Given the description of an element on the screen output the (x, y) to click on. 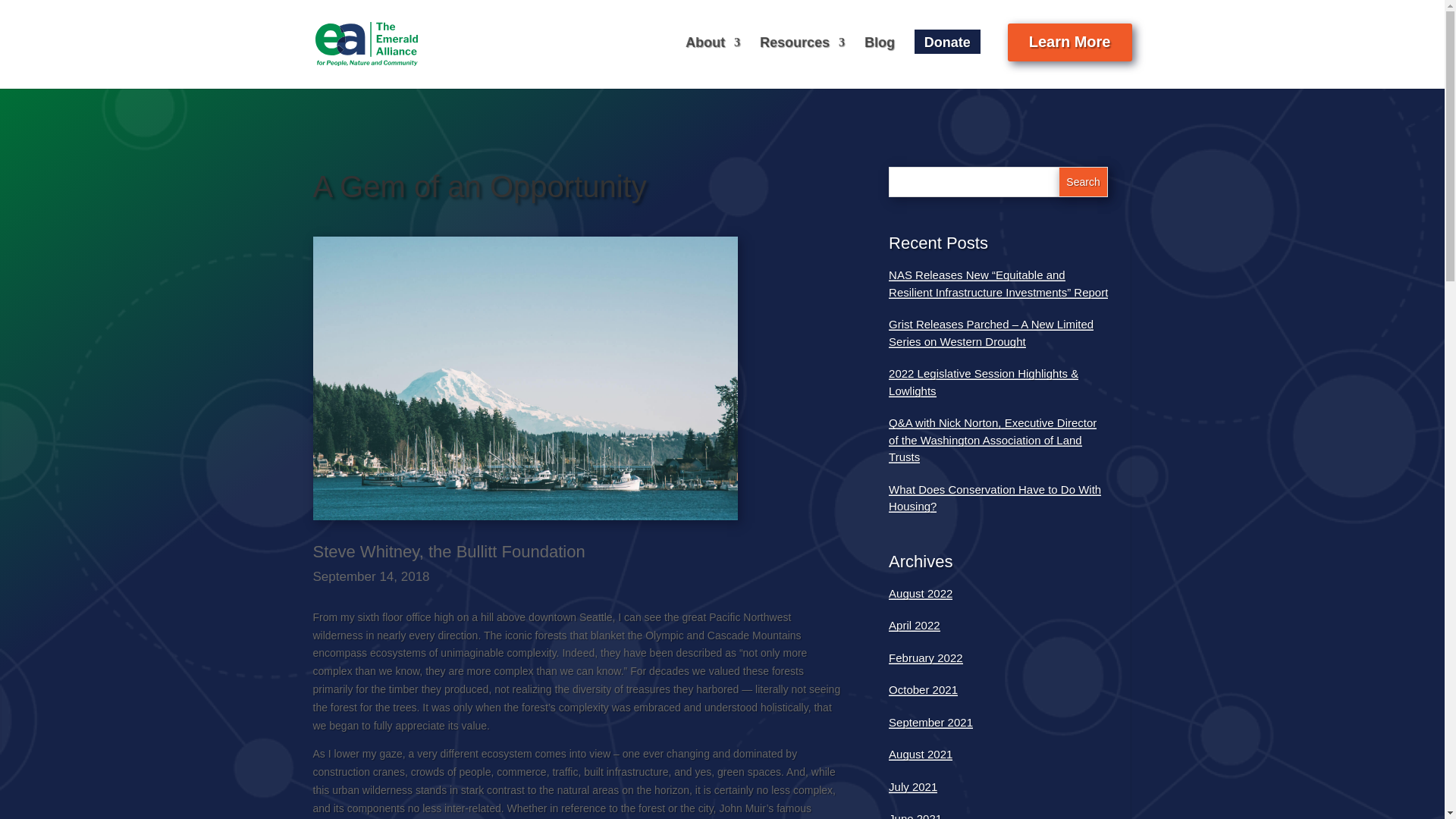
Blog (879, 45)
Learn More (1069, 42)
Search (1083, 182)
July 2021 (912, 786)
August 2022 (920, 593)
Search (1083, 182)
February 2022 (925, 657)
October 2021 (923, 689)
Donate (946, 41)
April 2022 (914, 625)
